Given the description of an element on the screen output the (x, y) to click on. 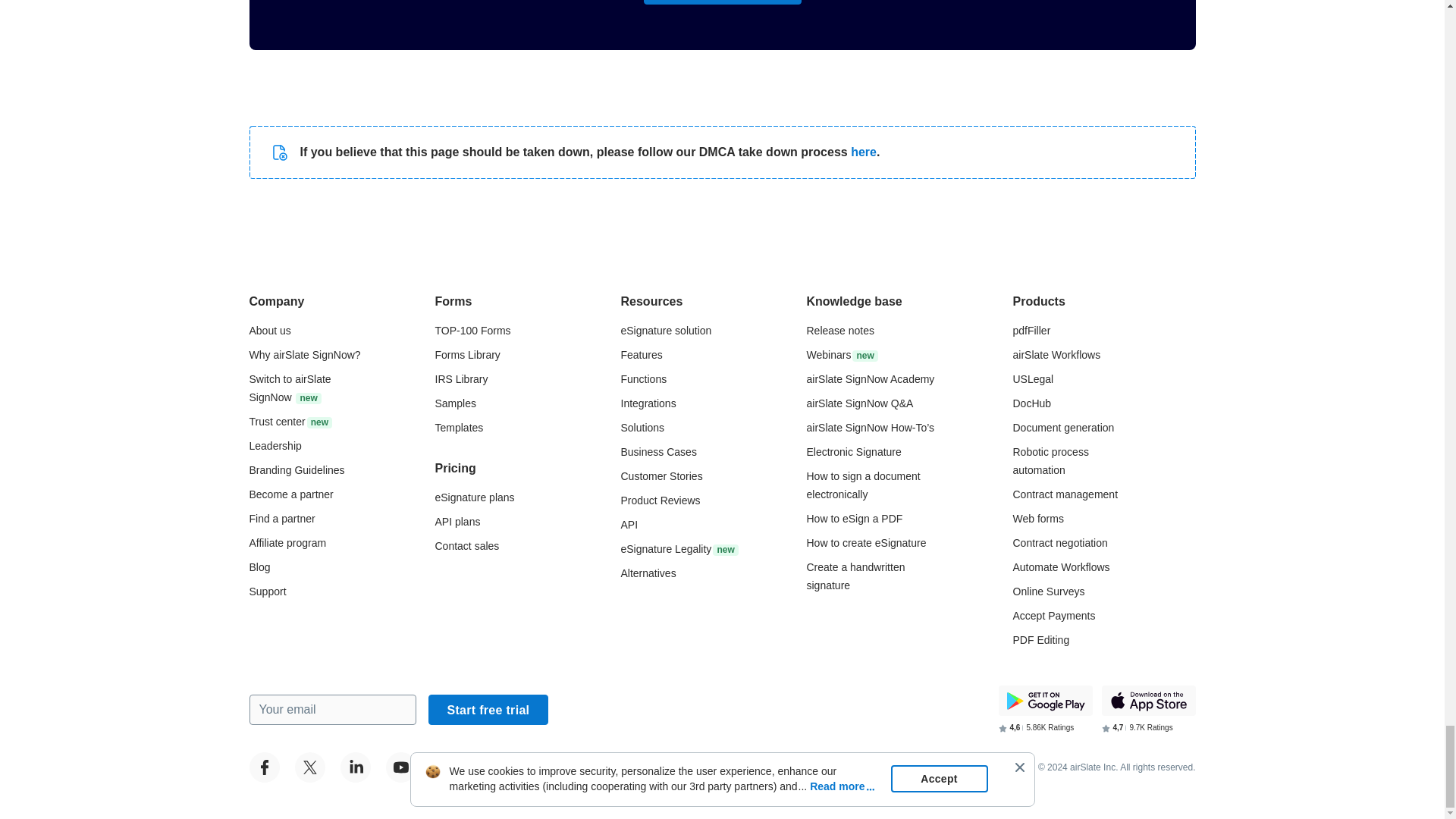
Go to the support center (266, 591)
Go to the trust center page (289, 421)
Go to the airSlate partner portal (290, 494)
Go to the sample documents page (455, 403)
Go to the  airSlate signNow  API pricing page (457, 521)
Go to the Why  airSlate signNow ? page (303, 354)
Go to the partners page (281, 518)
Go to the  airSlate signNow  Blog (258, 567)
Go to the affiliate program page (287, 542)
Go to the  airSlate signNow  forms library page (467, 354)
Go to the  airSlate signNow  templates page (459, 427)
Go to the About Us page (268, 330)
Go to the leadership page (274, 445)
Go to the  airSlate signNow  pricing page (475, 497)
Go to the  airSlate signNow  irs library page (461, 378)
